Given the description of an element on the screen output the (x, y) to click on. 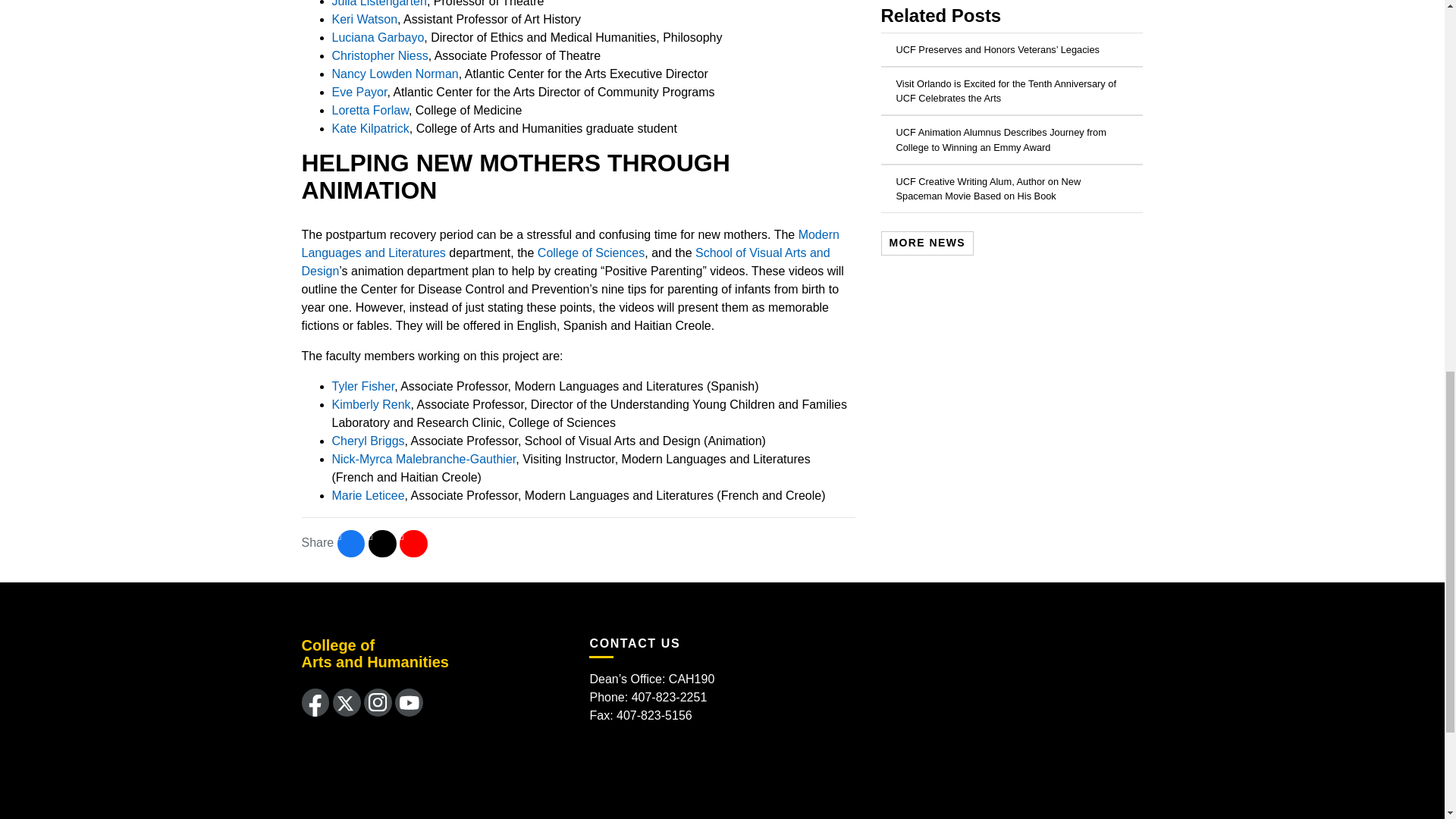
Share this post on Facebook (351, 543)
Share this post on Twitter (382, 543)
Share this post by email (413, 543)
Luciana Garbayo (378, 37)
Keri Watson (364, 19)
Julia Listengarten (378, 3)
Christopher Niess (379, 55)
